Given the description of an element on the screen output the (x, y) to click on. 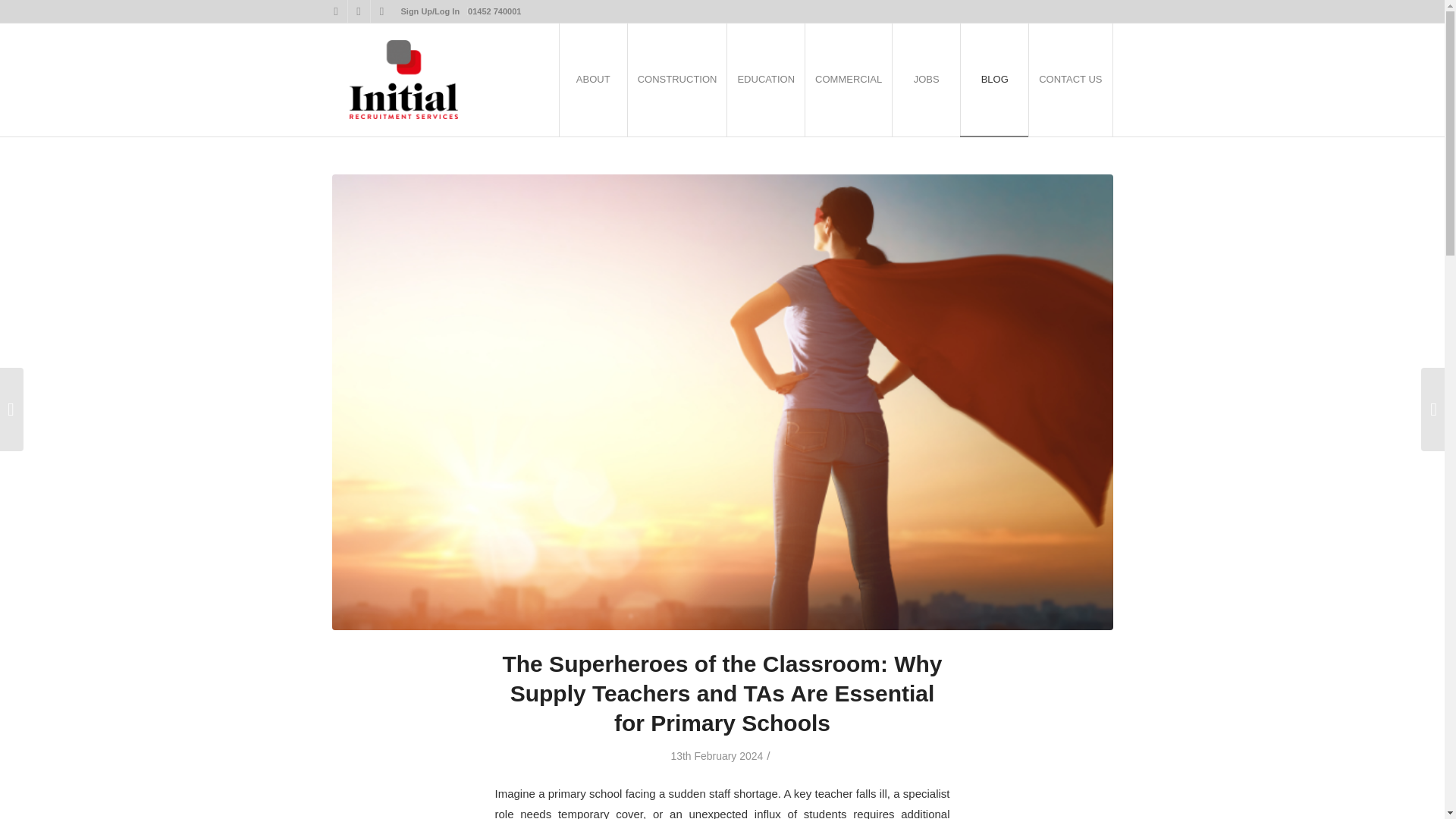
Twitter (335, 11)
Facebook (358, 11)
Linkedin (381, 11)
